Given the description of an element on the screen output the (x, y) to click on. 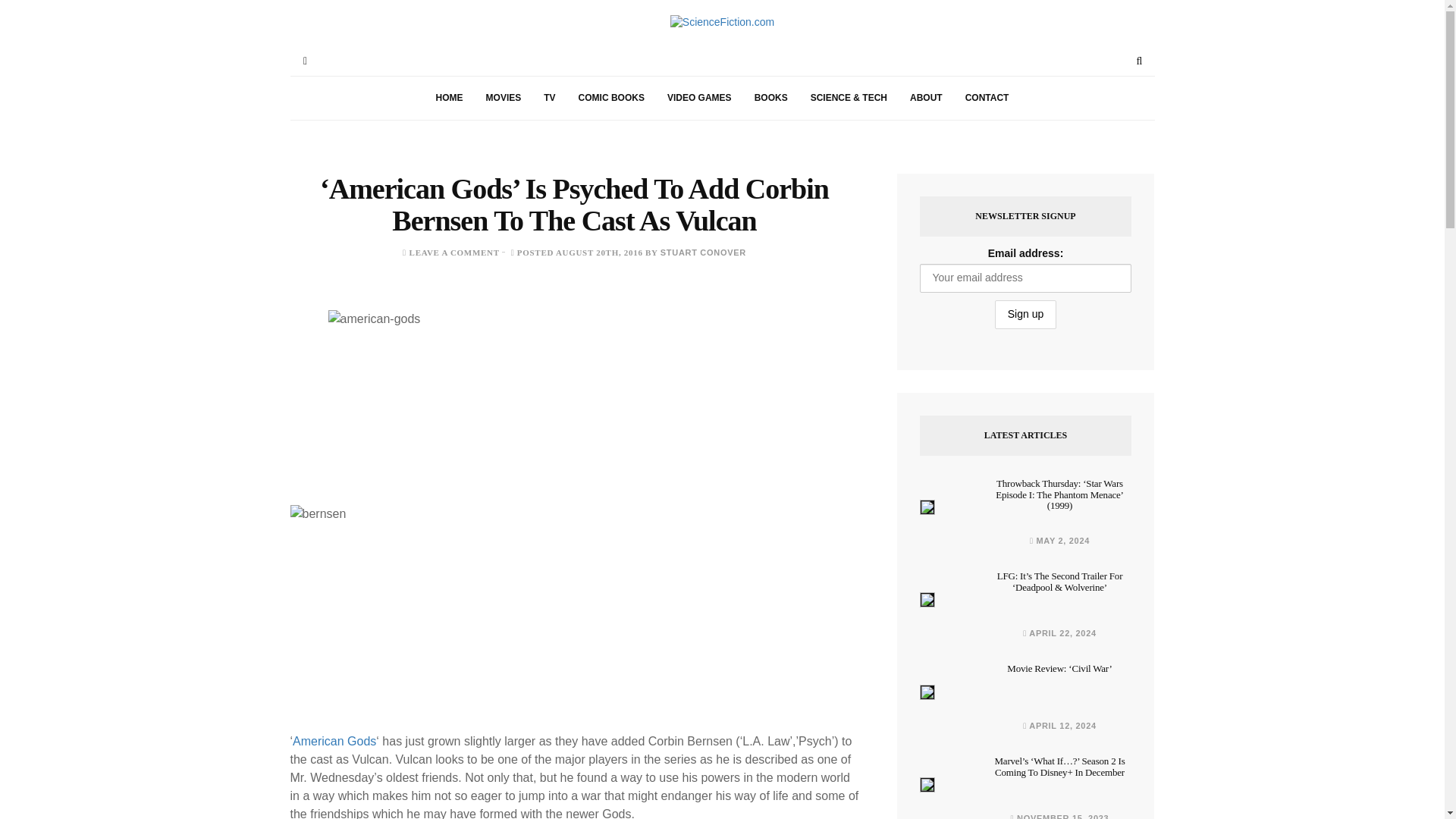
HOME (449, 97)
LEAVE A COMMENT (454, 252)
MOVIES (503, 97)
STUART CONOVER (703, 252)
Sign up (1025, 314)
VIDEO GAMES (699, 97)
CONTACT (986, 97)
COMIC BOOKS (611, 97)
ABOUT (925, 97)
Search (1139, 60)
